Given the description of an element on the screen output the (x, y) to click on. 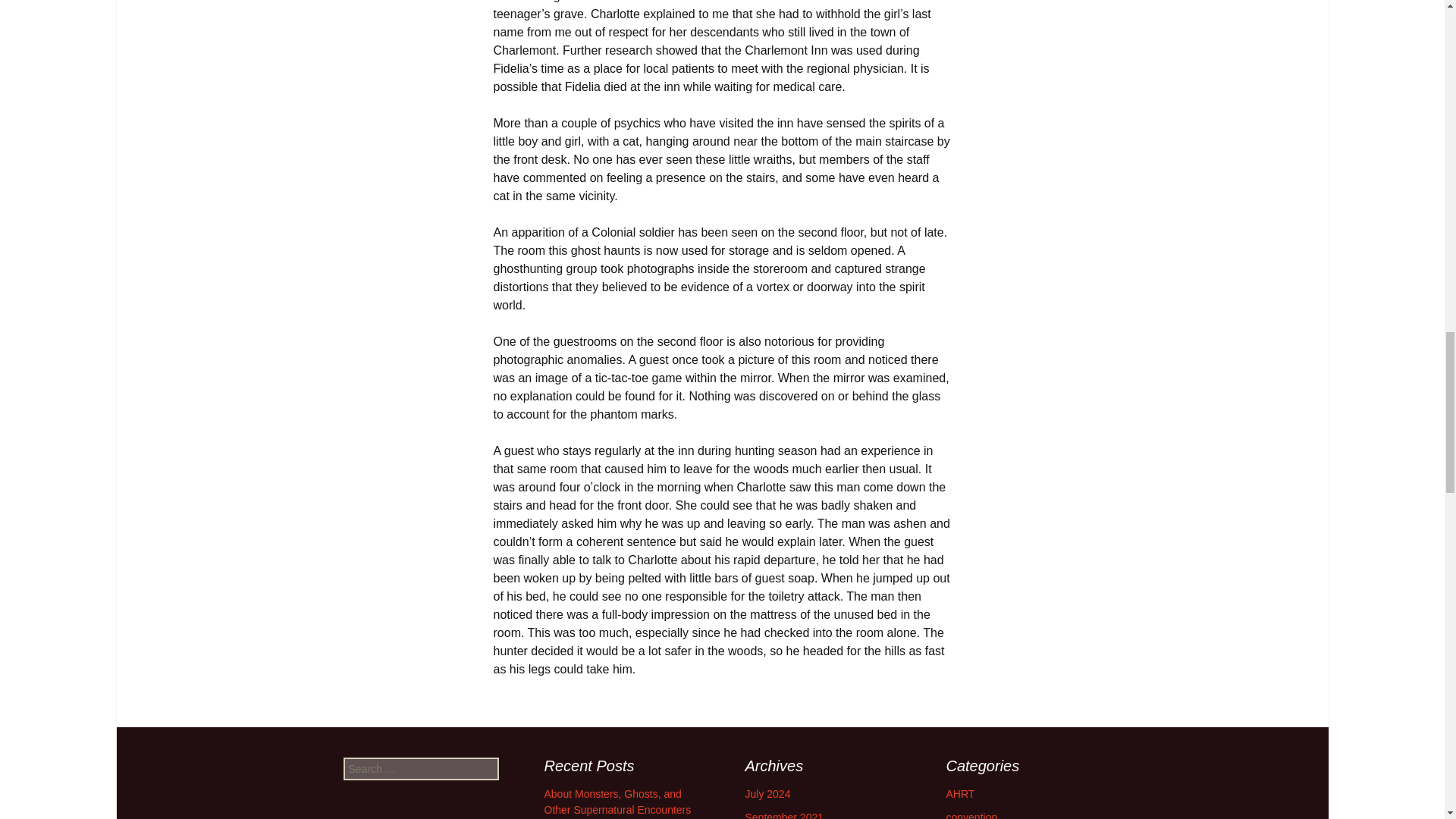
July 2024 (767, 793)
About Monsters, Ghosts, and Other Supernatural Encounters  (619, 801)
September 2021 (784, 815)
